Given the description of an element on the screen output the (x, y) to click on. 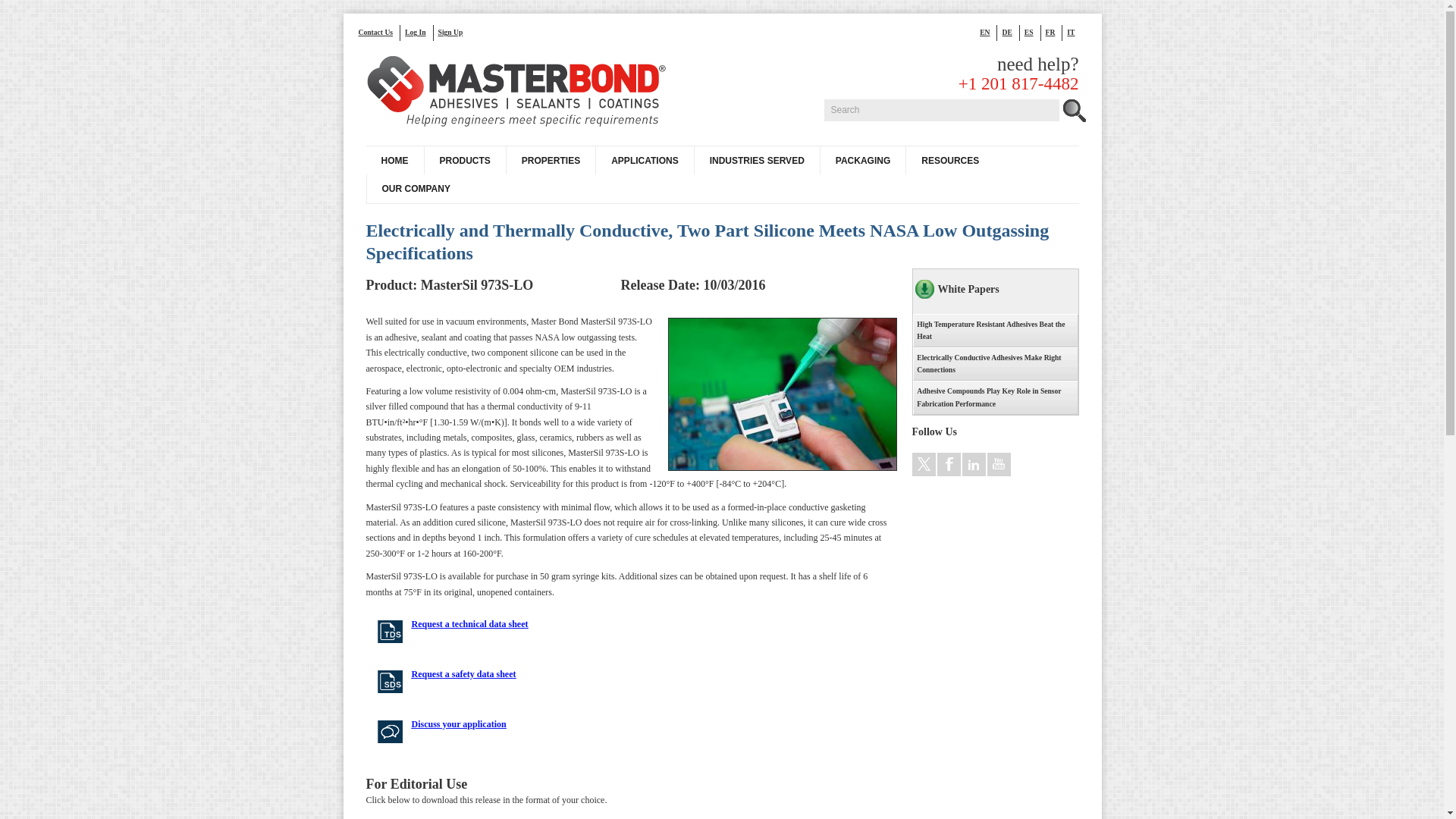
Sign Up (454, 32)
Contact Us (379, 32)
IT (1074, 32)
Enter the terms you wish to search for. (941, 110)
DE (1010, 32)
Home (517, 92)
PRODUCTS (464, 160)
Search (941, 110)
Search (941, 110)
FR (1053, 32)
PROPERTIES (550, 160)
HOME (394, 160)
EN (988, 32)
ES (1033, 32)
Log In (418, 32)
